Given the description of an element on the screen output the (x, y) to click on. 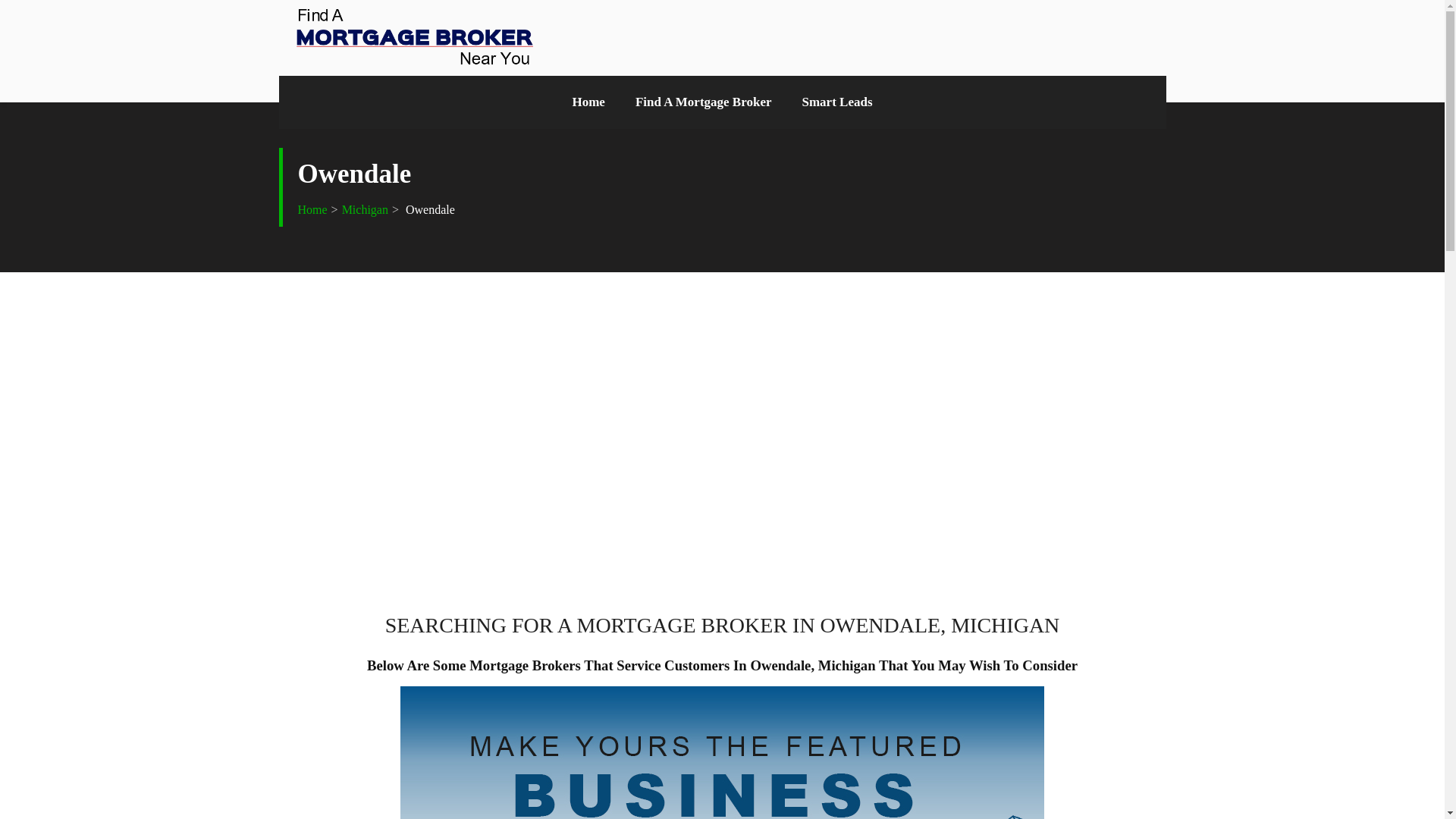
Home (588, 102)
Find A Mortgage Broker (703, 102)
Home (311, 209)
Smart Leads (837, 102)
Home (588, 102)
Smart Leads (837, 102)
Home (311, 209)
Michigan (365, 209)
Owendale (428, 209)
Find a Mortgage Broker (703, 102)
